Given the description of an element on the screen output the (x, y) to click on. 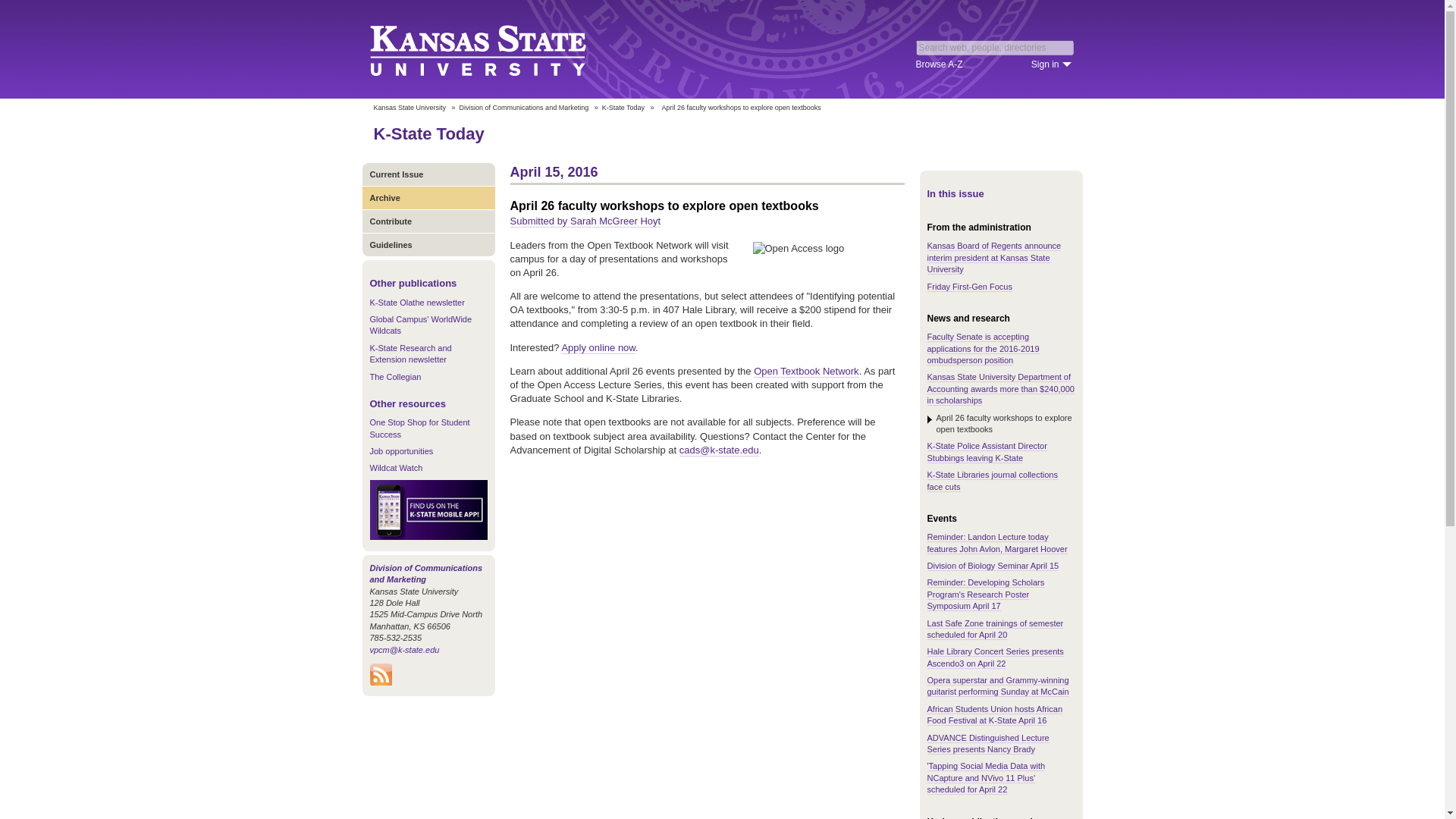
Open Textbook Network (806, 371)
Division of Communications and Marketing (524, 107)
K-State Olathe newsletter (416, 302)
Job opportunities (401, 450)
Division of Communications and Marketing (426, 573)
K-State Research and Extension newsletter (410, 353)
One Stop Shop for Student Success (419, 427)
Apply online now (597, 347)
Apply to review an open textbook (597, 347)
